Given the description of an element on the screen output the (x, y) to click on. 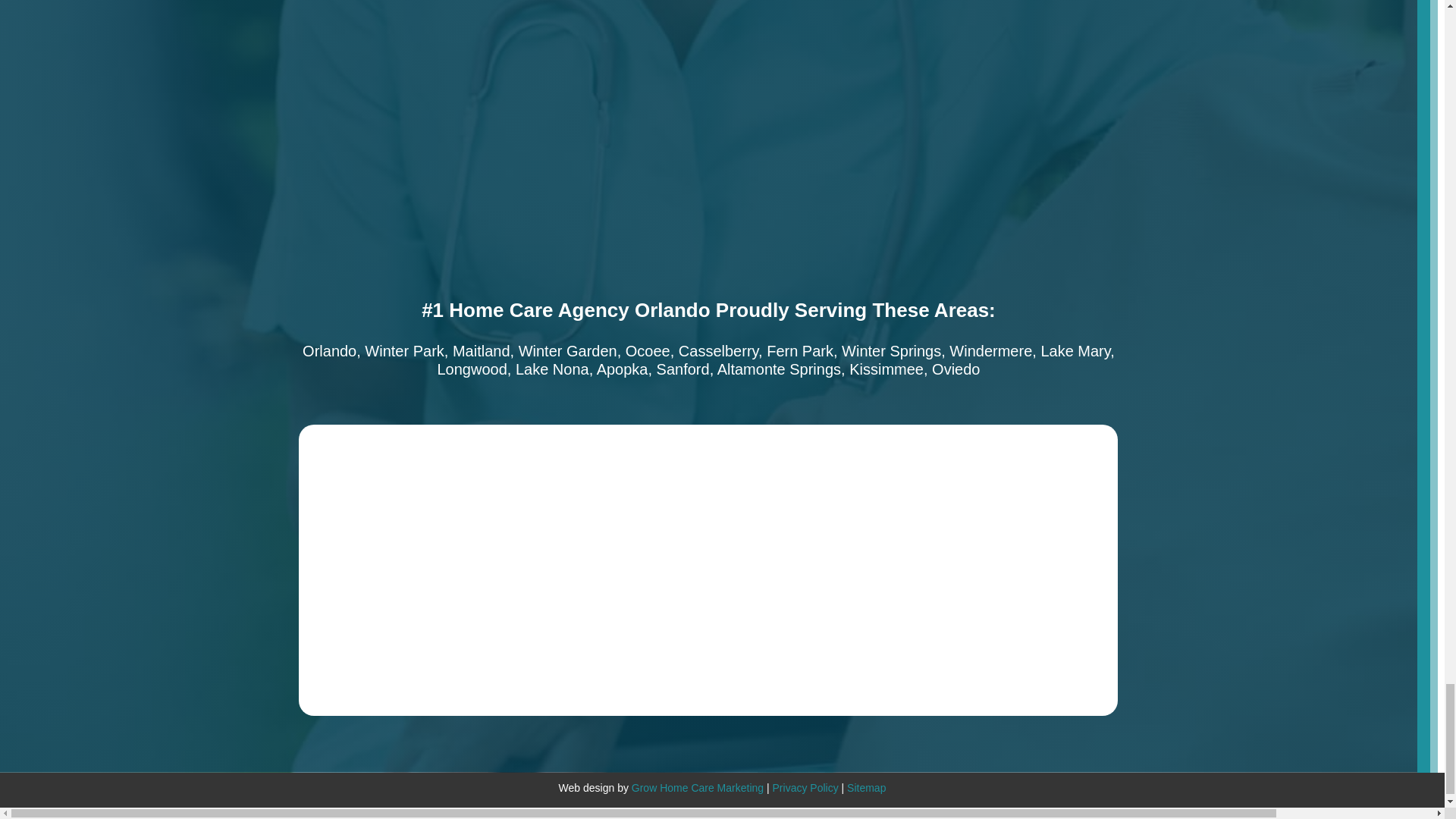
Screenshot 2024-07-29 164408 (430, 497)
ADRC Logo (956, 496)
BOHC-resized (431, 642)
Screenshot 2024-07-29 164813 (708, 642)
BBB-Logo-Horizontal (707, 497)
2024 Provider of Choice with year (985, 643)
